Given the description of an element on the screen output the (x, y) to click on. 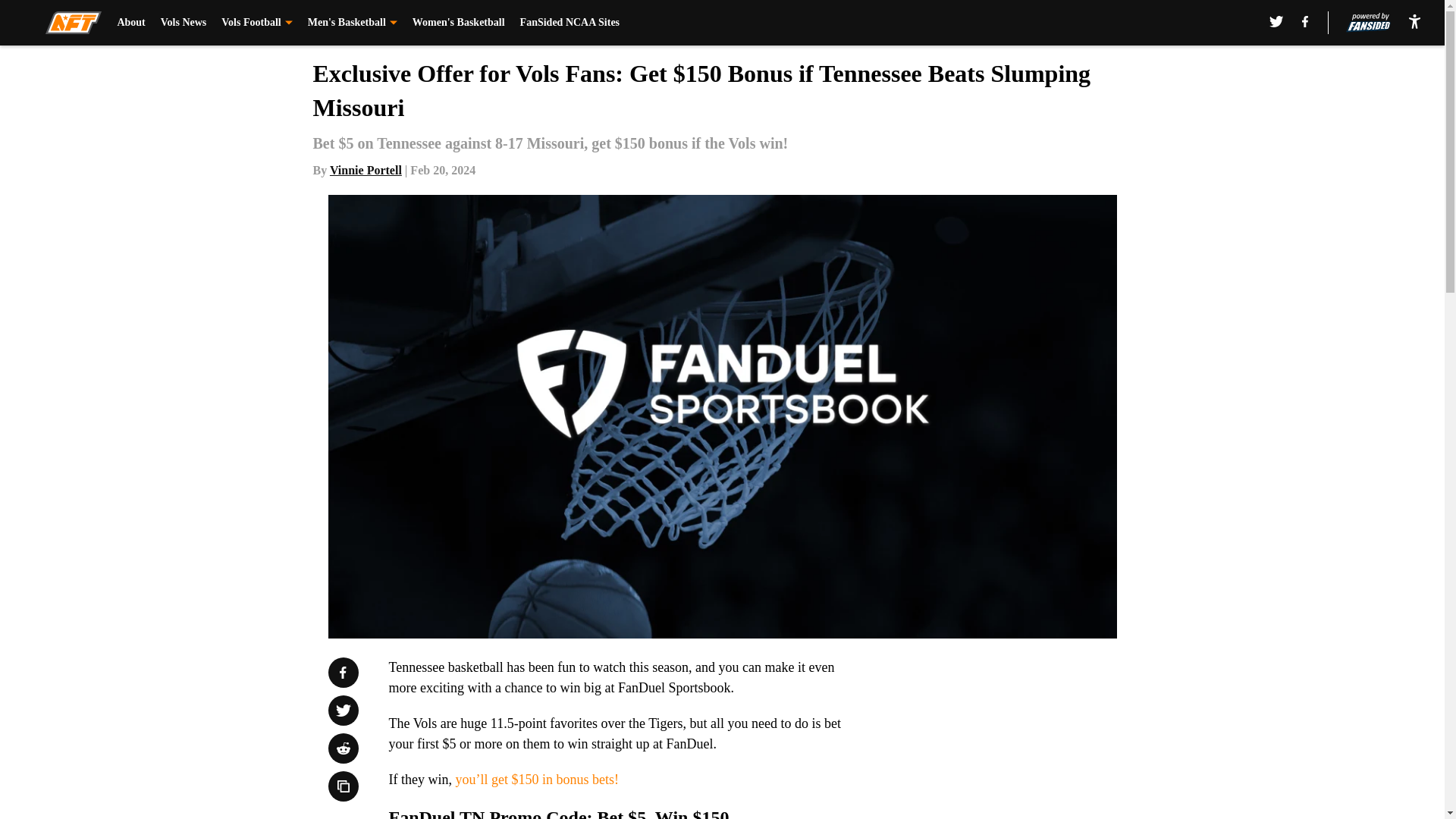
Vinnie Portell (365, 169)
FanSided NCAA Sites (569, 22)
About (130, 22)
Vols News (183, 22)
Women's Basketball (458, 22)
